Given the description of an element on the screen output the (x, y) to click on. 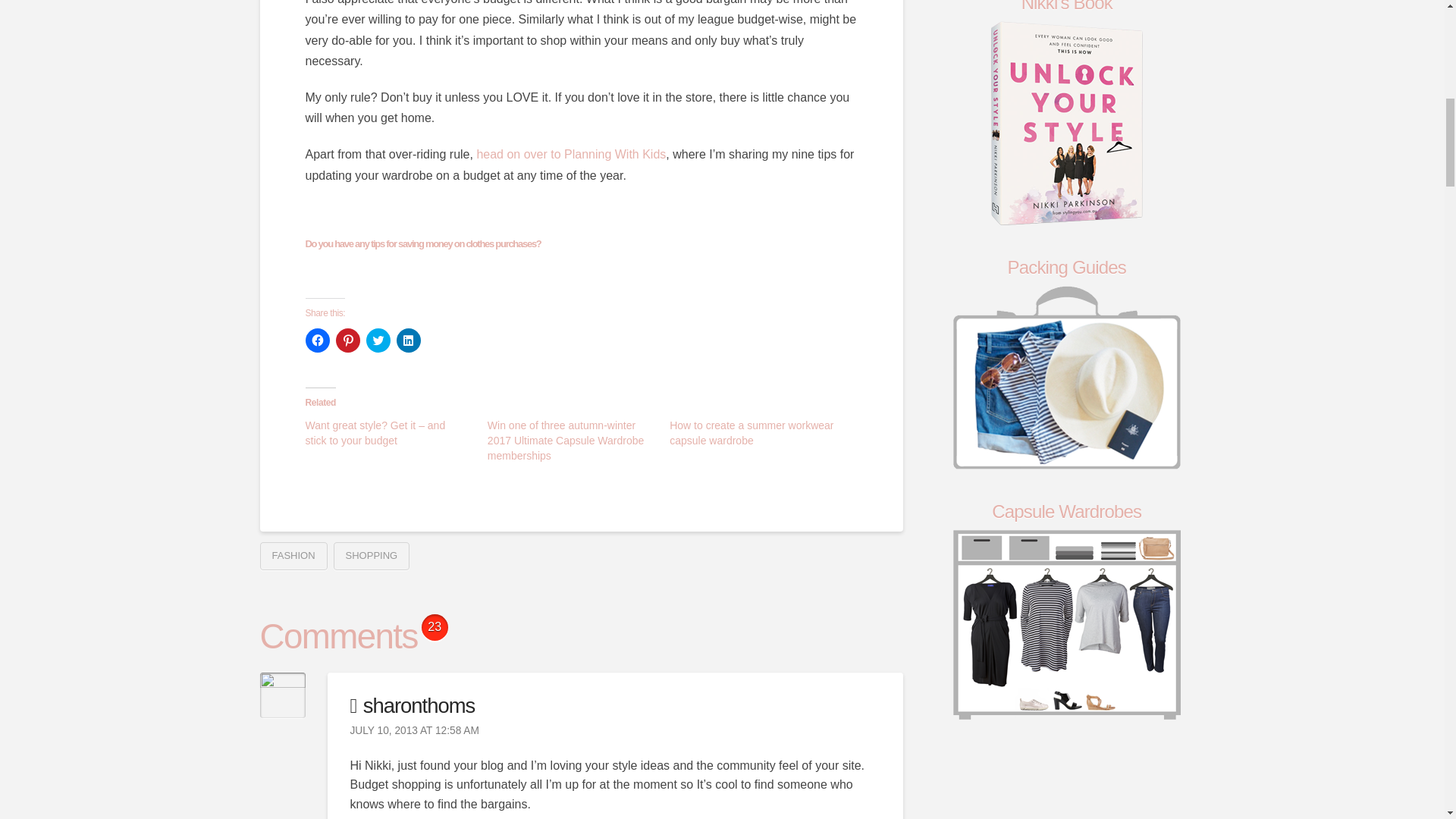
head on over to Planning With Kids (570, 154)
Click to share on Facebook (316, 340)
Planning with Kids (570, 154)
Click to share on LinkedIn (408, 340)
How to create a summer workwear capsule wardrobe (750, 432)
Click to share on Twitter (377, 340)
Click to share on Pinterest (346, 340)
